Given the description of an element on the screen output the (x, y) to click on. 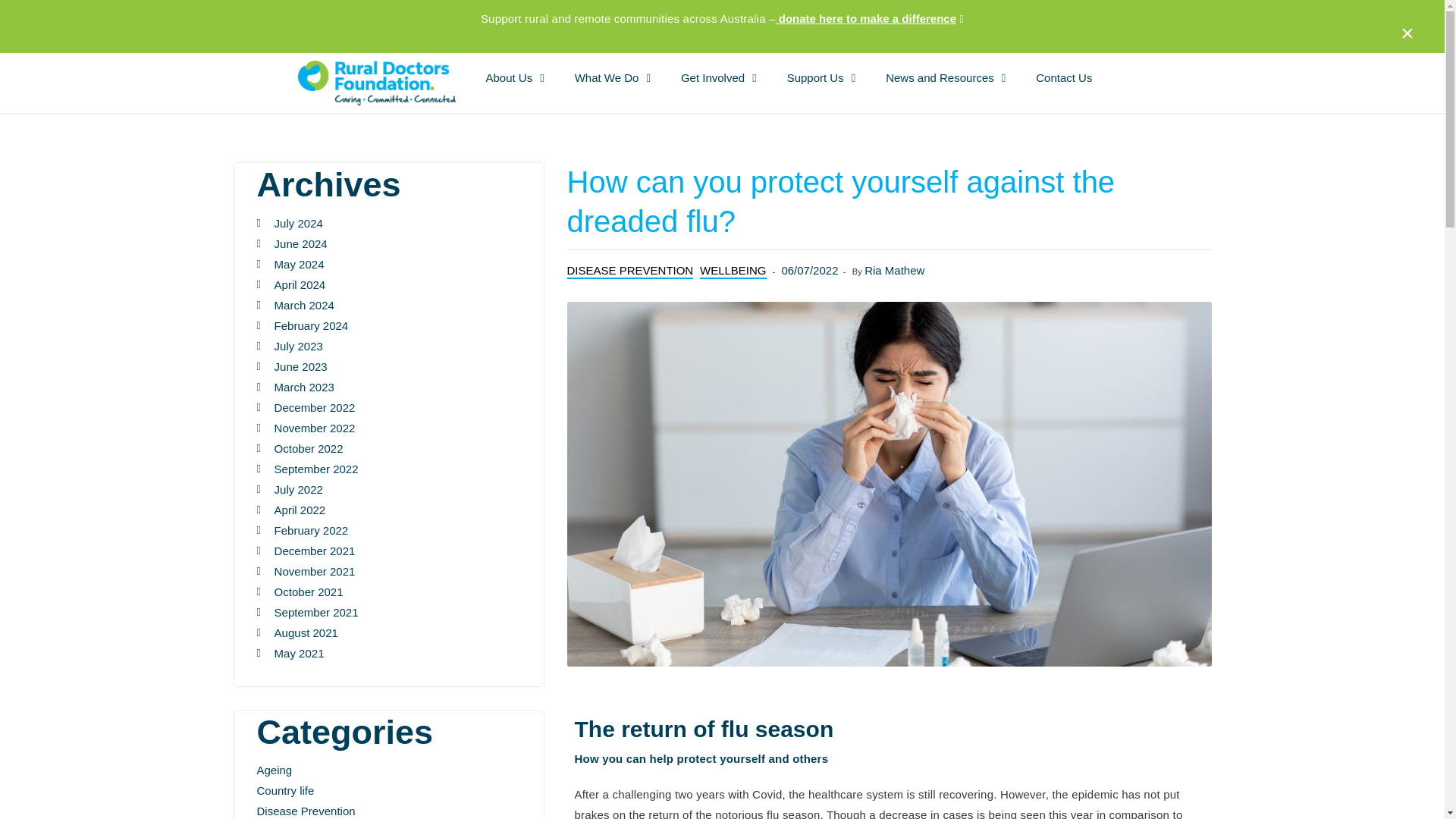
News and Resources (945, 77)
Get Involved (718, 77)
About Us (514, 77)
What We Do (612, 77)
Contact Us (1063, 77)
donate here to make a difference (866, 18)
Support Us (820, 77)
